Given the description of an element on the screen output the (x, y) to click on. 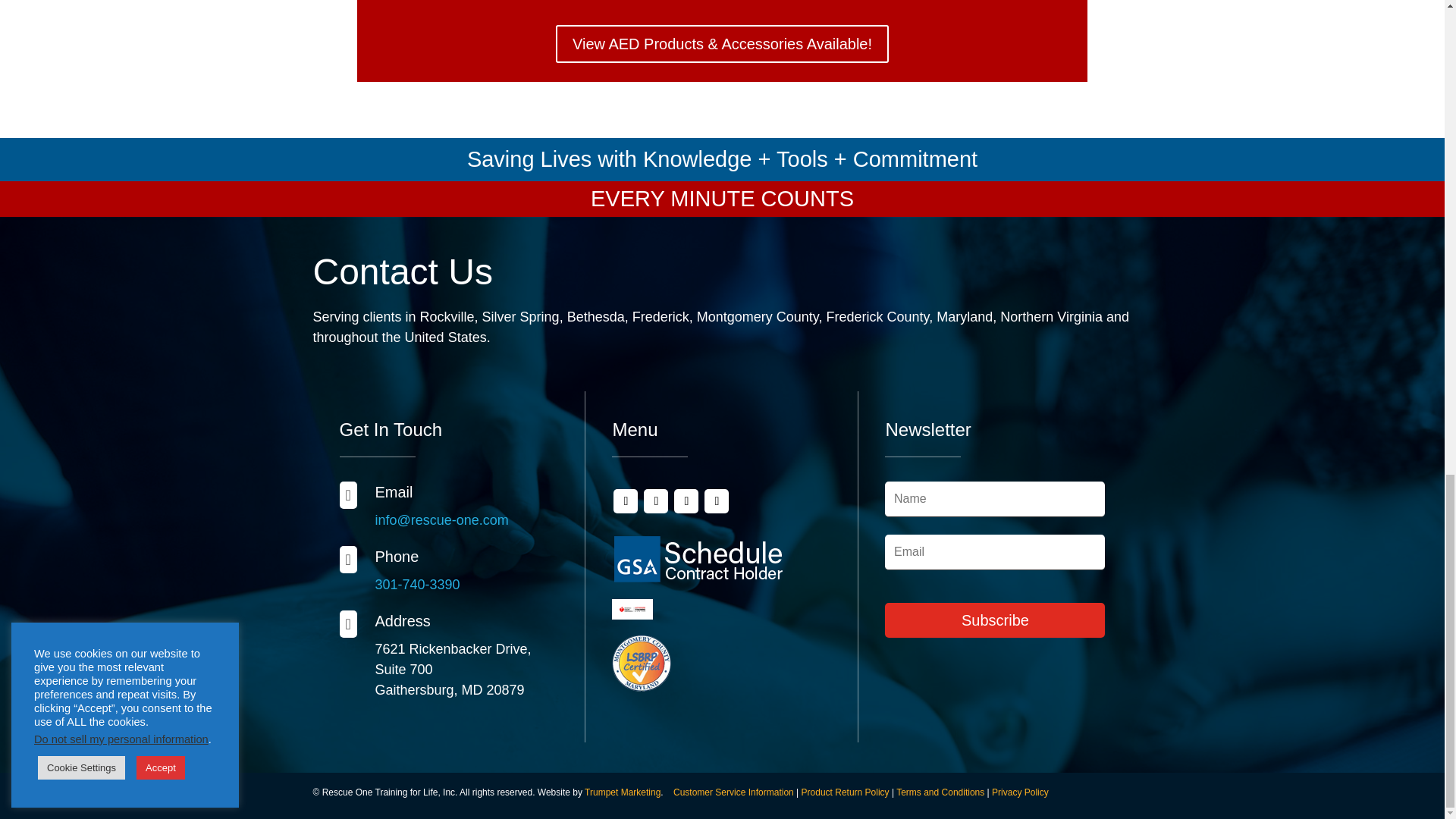
Follow on X (655, 500)
Follow on LinkedIn (686, 500)
Follow on Facebook (624, 500)
Follow on Instagram (716, 500)
